Given the description of an element on the screen output the (x, y) to click on. 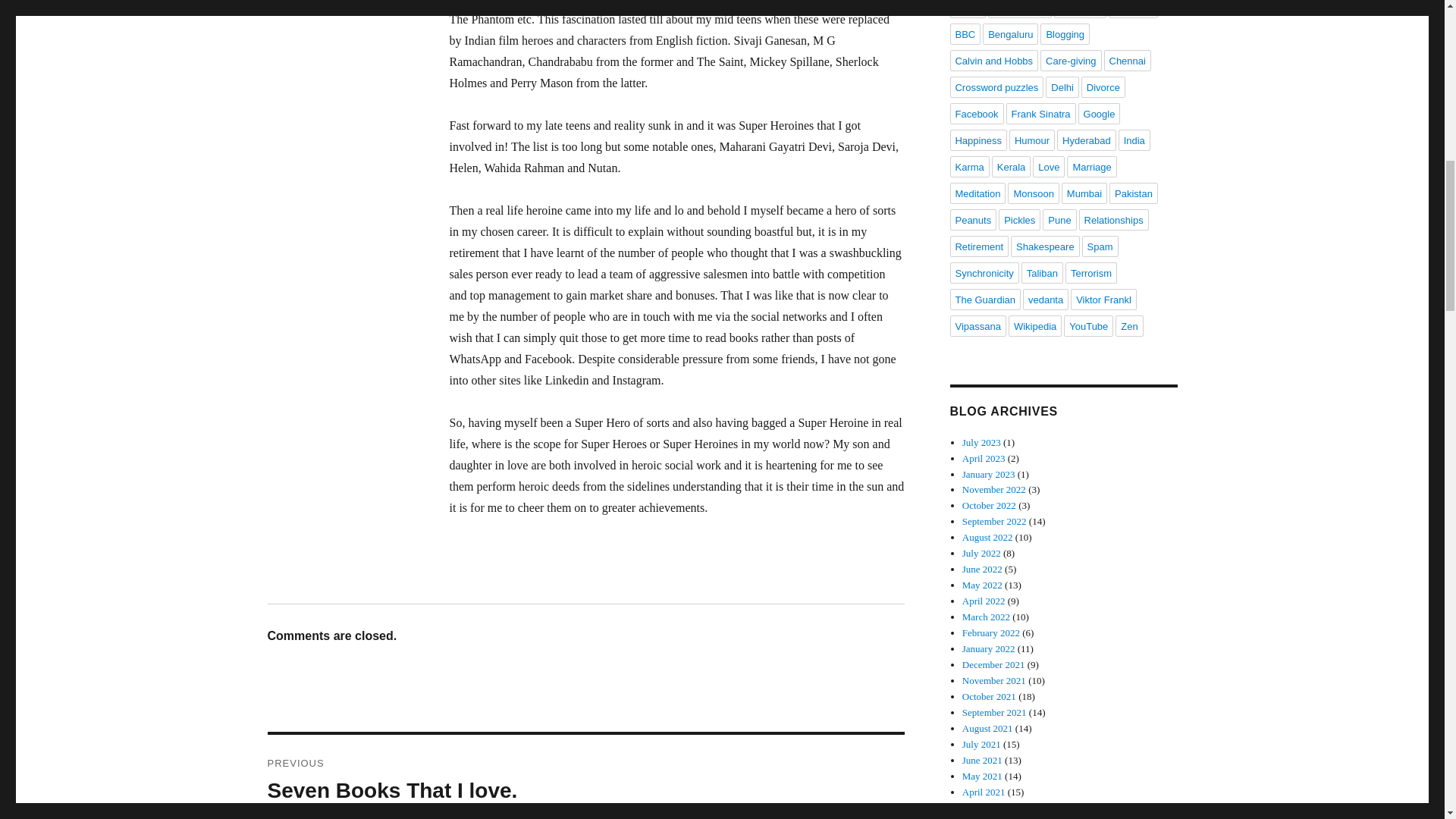
Crossword puzzles (996, 86)
Ajit Ninan (585, 776)
Australia (1080, 9)
Aging (1132, 9)
Ahmedabad (967, 9)
Calvin and Hobbs (1019, 9)
Divorce (993, 60)
Blogging (1103, 86)
Care-giving (1065, 34)
Chennai (1070, 60)
Bengaluru (1127, 60)
Delhi (1010, 34)
Facebook (1061, 86)
BBC (976, 113)
